Given the description of an element on the screen output the (x, y) to click on. 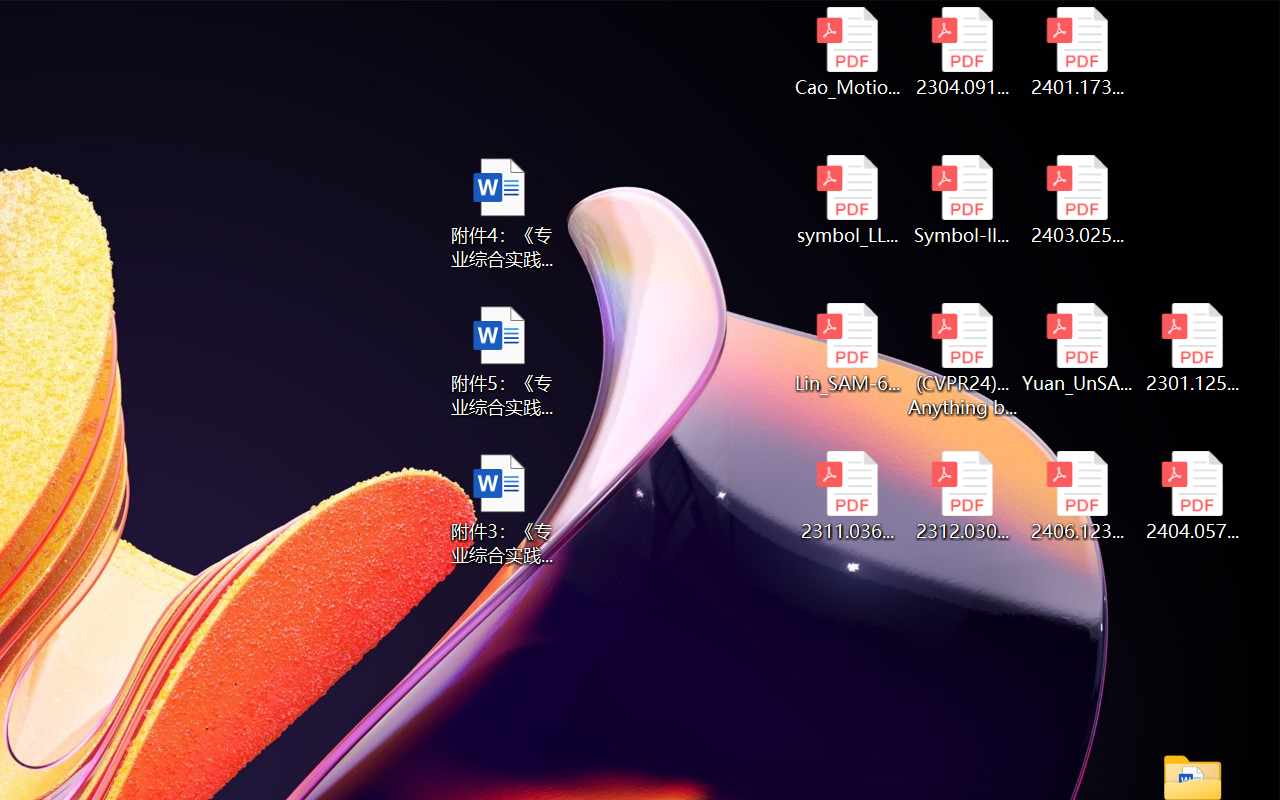
TextBox 61 (262, 762)
